Given the description of an element on the screen output the (x, y) to click on. 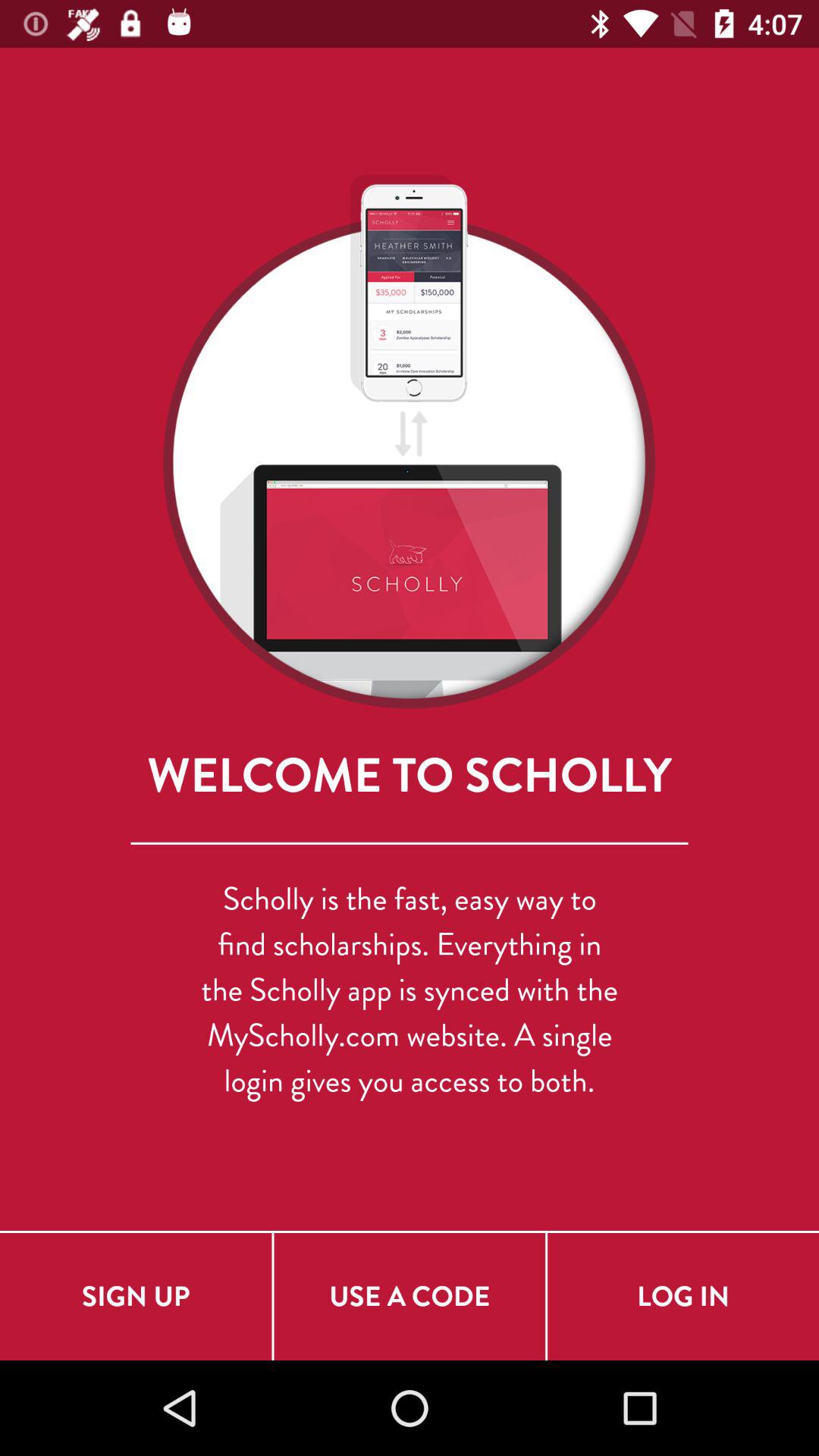
swipe until the sign up (135, 1296)
